Given the description of an element on the screen output the (x, y) to click on. 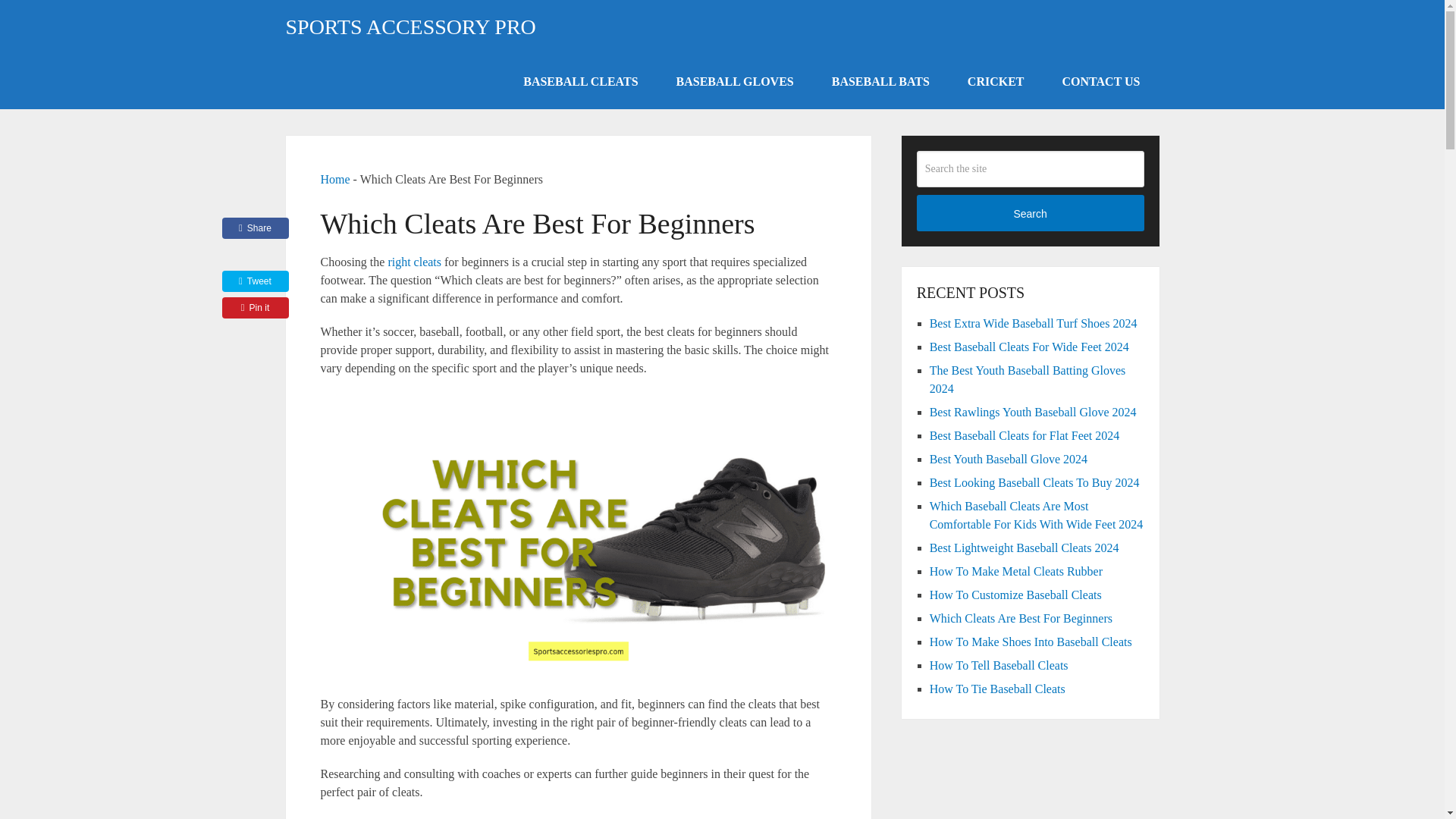
CRICKET (996, 81)
BASEBALL CLEATS (579, 81)
Home (334, 178)
CONTACT US (1100, 81)
BASEBALL GLOVES (735, 81)
right cleats  (415, 261)
BASEBALL BATS (880, 81)
SPORTS ACCESSORY PRO (410, 26)
